Given the description of an element on the screen output the (x, y) to click on. 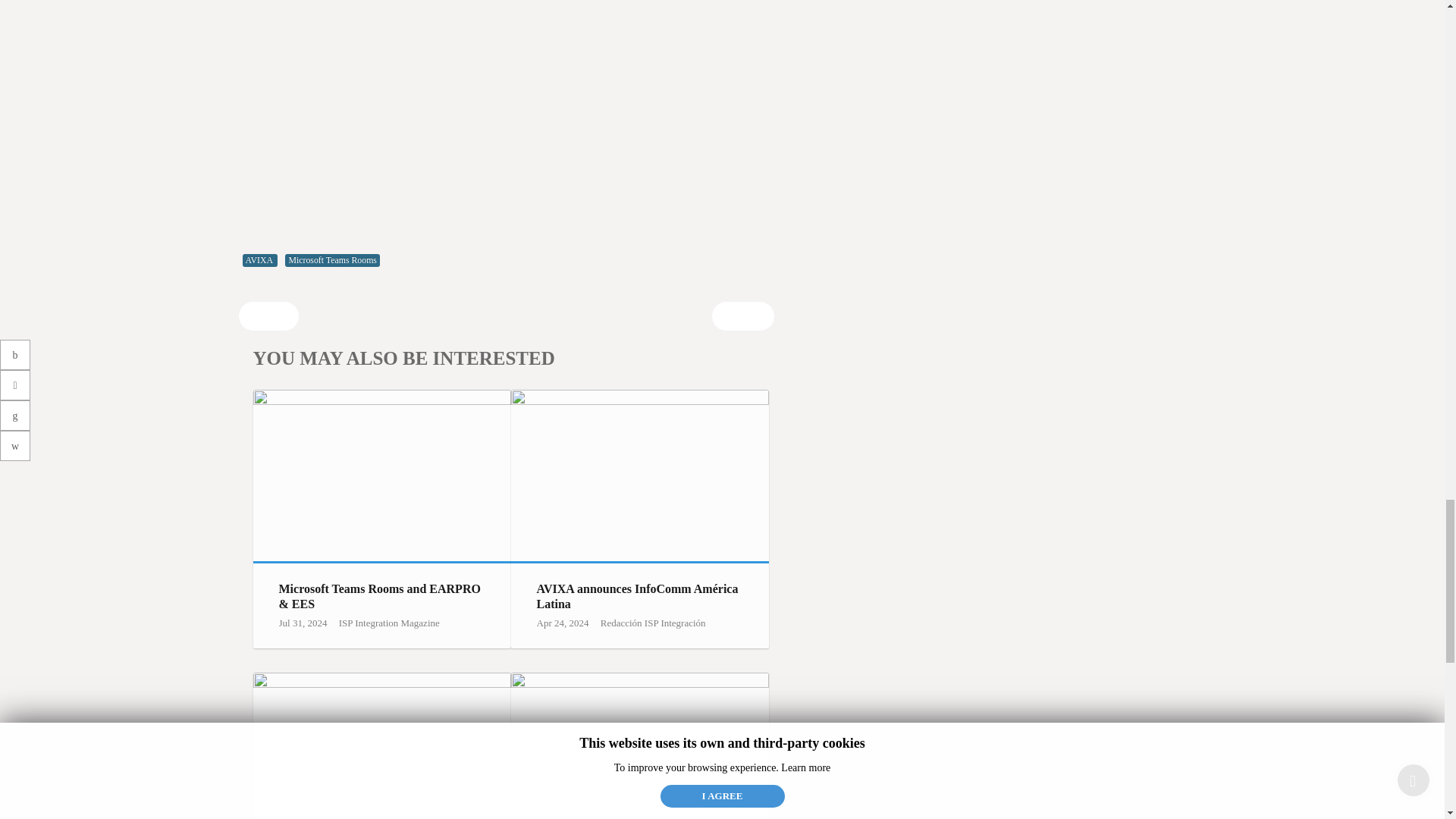
AVIXA-certified webinars by ZeeVee (639, 745)
Shure continues to enhance conferencing (382, 745)
